Given the description of an element on the screen output the (x, y) to click on. 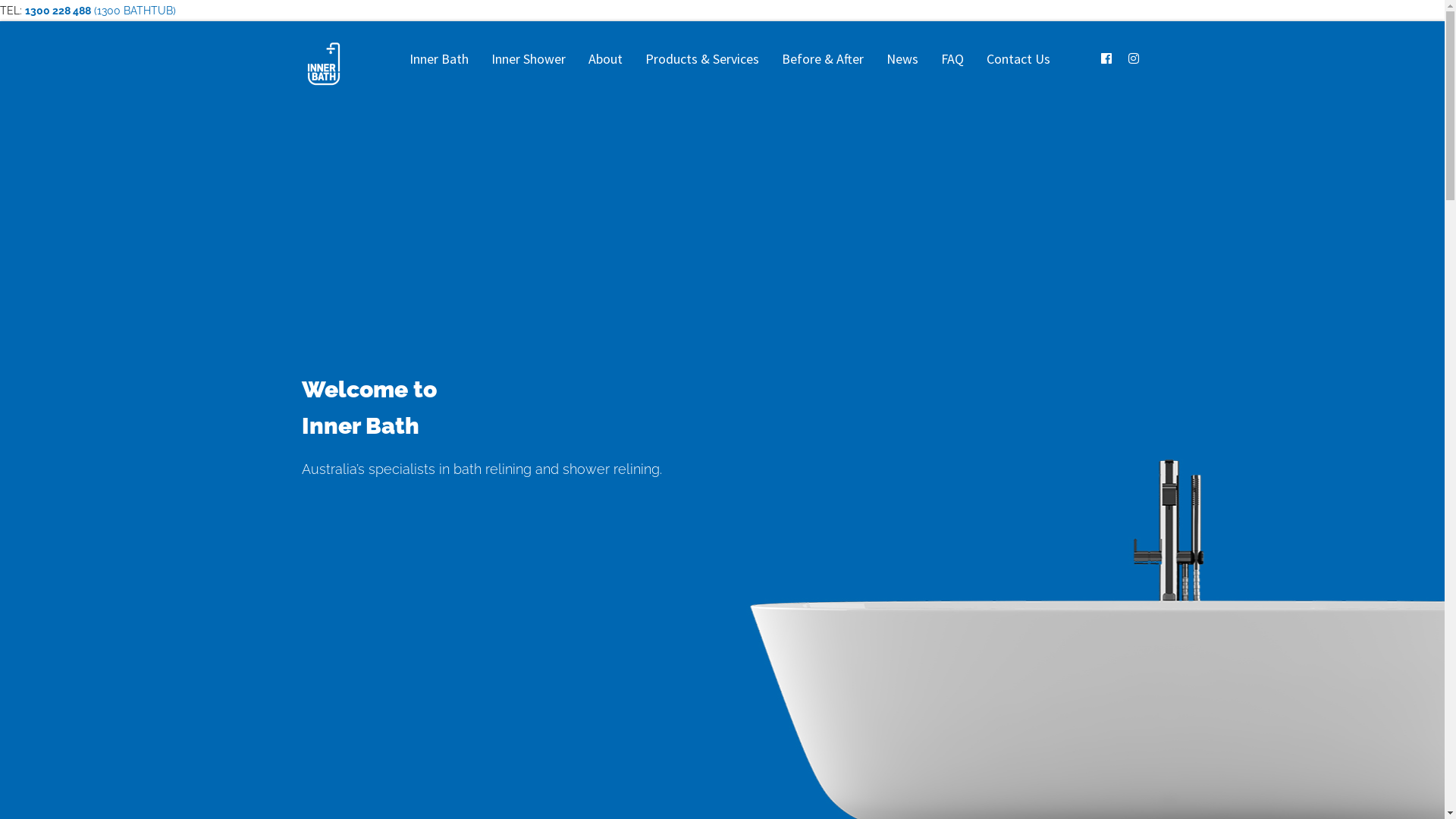
Contact Us Element type: text (1018, 59)
Before & After Element type: text (822, 59)
About Element type: text (604, 59)
Inner Shower Element type: text (527, 59)
FAQ Element type: text (952, 59)
Products & Services Element type: text (701, 59)
1300 228 488 (1300 BATHTUB) Element type: text (100, 10)
Inner Bath Element type: text (438, 59)
News Element type: text (902, 59)
